Given the description of an element on the screen output the (x, y) to click on. 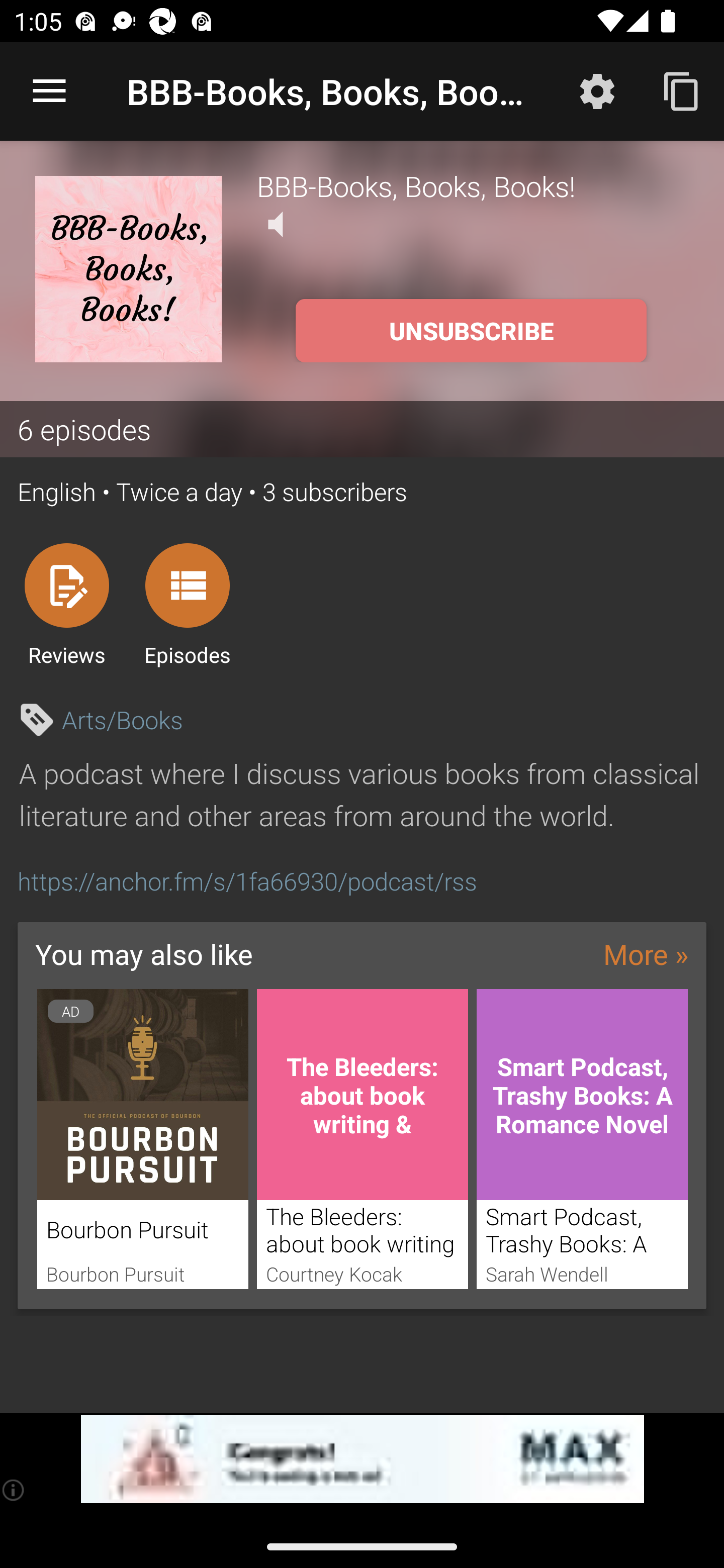
Open navigation sidebar (49, 91)
Settings (597, 90)
Copy feed url to clipboard (681, 90)
BBB-Books, Books, Books! (472, 185)
UNSUBSCRIBE (470, 330)
Reviews (66, 604)
Episodes (187, 604)
More » (645, 953)
AD Bourbon Pursuit Bourbon Pursuit (142, 1138)
app-monetization (362, 1459)
(i) (14, 1489)
